Given the description of an element on the screen output the (x, y) to click on. 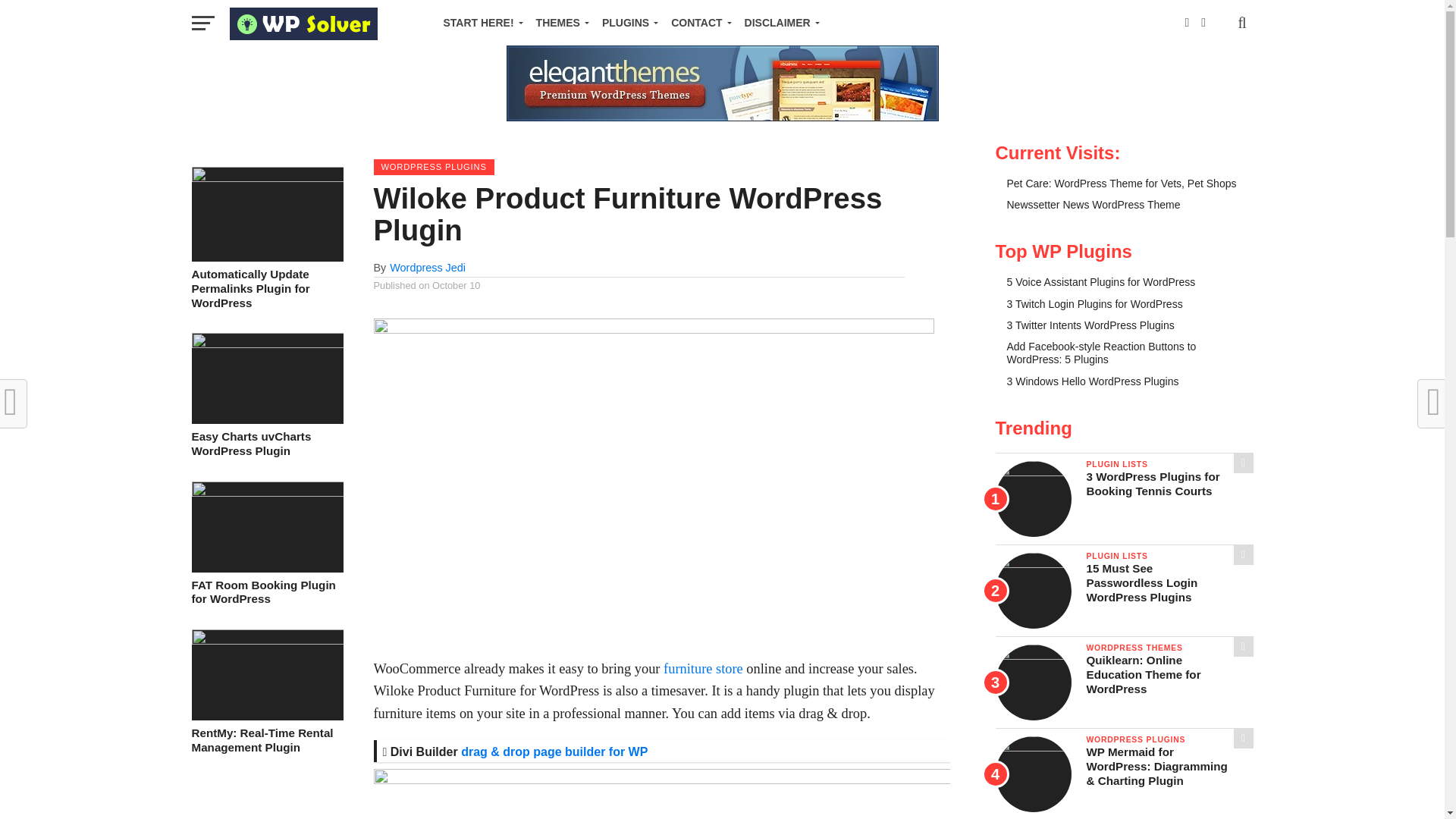
Automatically Update Permalinks Plugin for WordPress (266, 177)
Easy Charts uvCharts WordPress Plugin (266, 343)
FAT Room Booking Plugin for WordPress (266, 492)
RentMy: Real-Time Rental Management Plugin (266, 640)
START HERE! (479, 22)
Posts by Wordpress Jedi (427, 267)
